Given the description of an element on the screen output the (x, y) to click on. 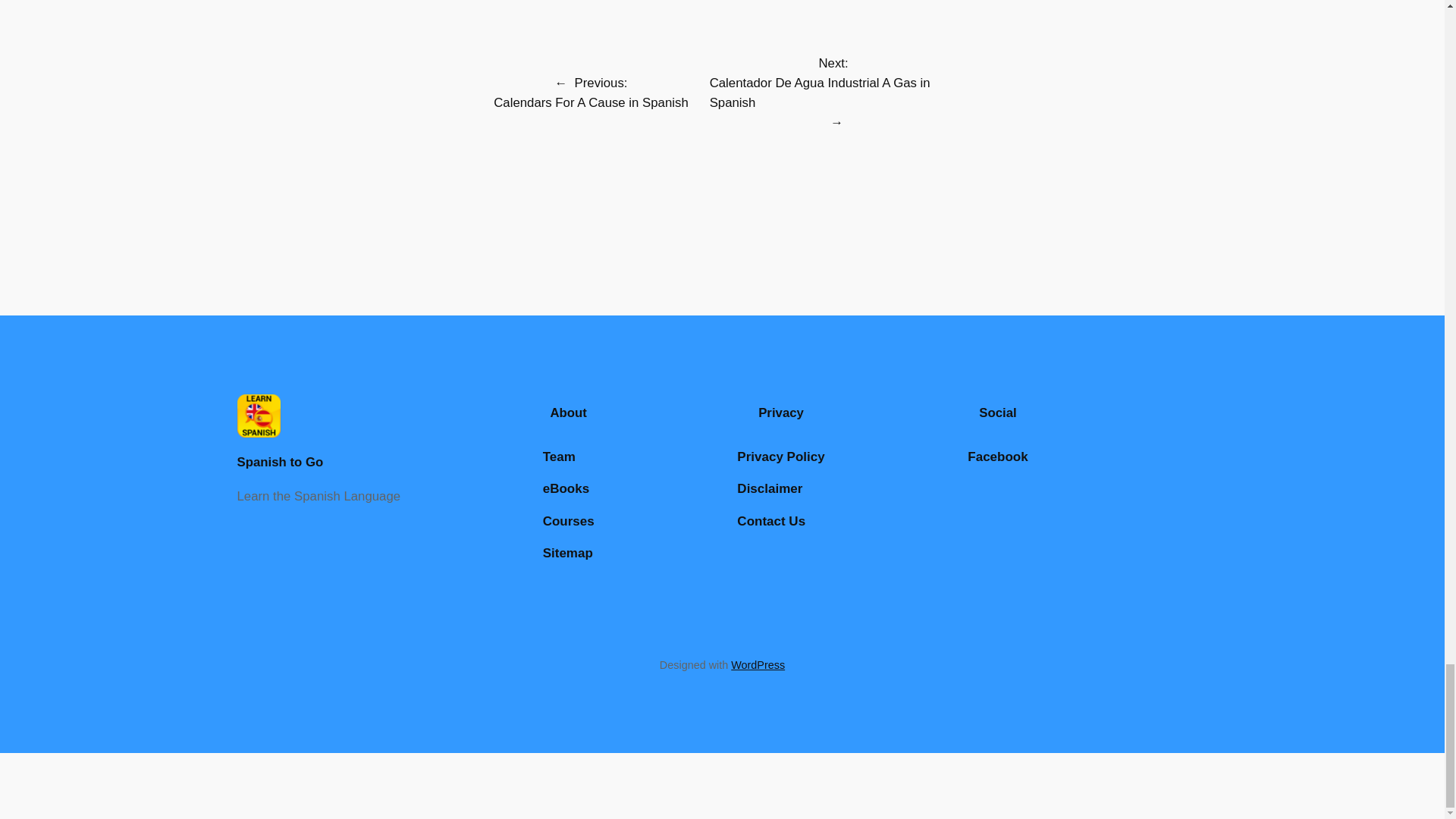
Previous: Calendars For A Cause in Spanish (590, 92)
Spanish to Go (279, 462)
Next: Calentador De Agua Industrial A Gas in Spanish (834, 82)
